Given the description of an element on the screen output the (x, y) to click on. 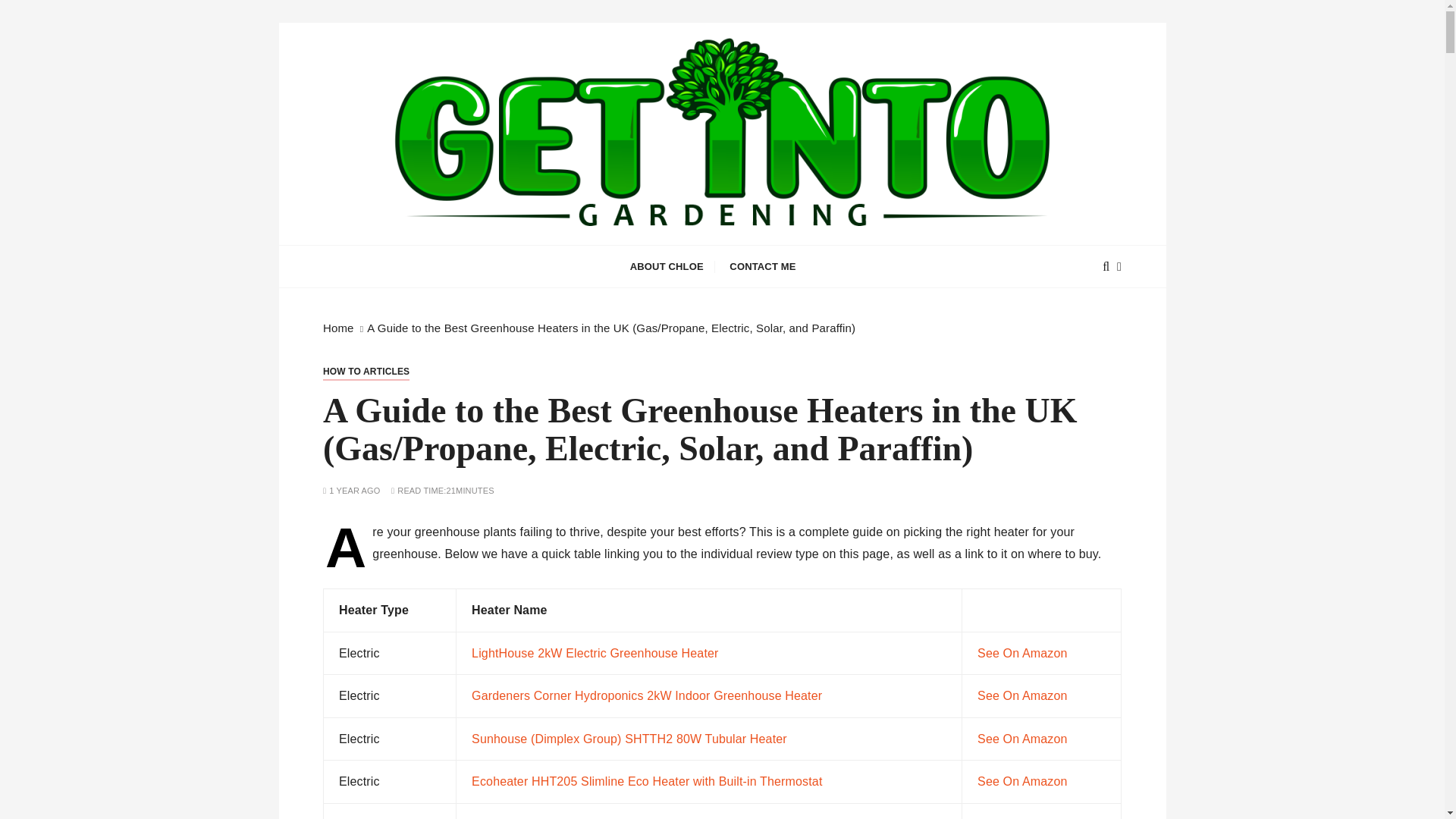
HOW TO ARTICLES (366, 371)
ABOUT CHLOE (666, 266)
See On Amazon (1021, 695)
See On Amazon (1021, 653)
LightHouse 2kW Electric Greenhouse Heater (594, 653)
See On Amazon (1021, 780)
Home (338, 327)
Gardeners Corner Hydroponics 2kW Indoor Greenhouse Heater (646, 695)
GET INTO GARDENING (548, 255)
CONTACT ME (761, 266)
See On Amazon (1021, 738)
